Given the description of an element on the screen output the (x, y) to click on. 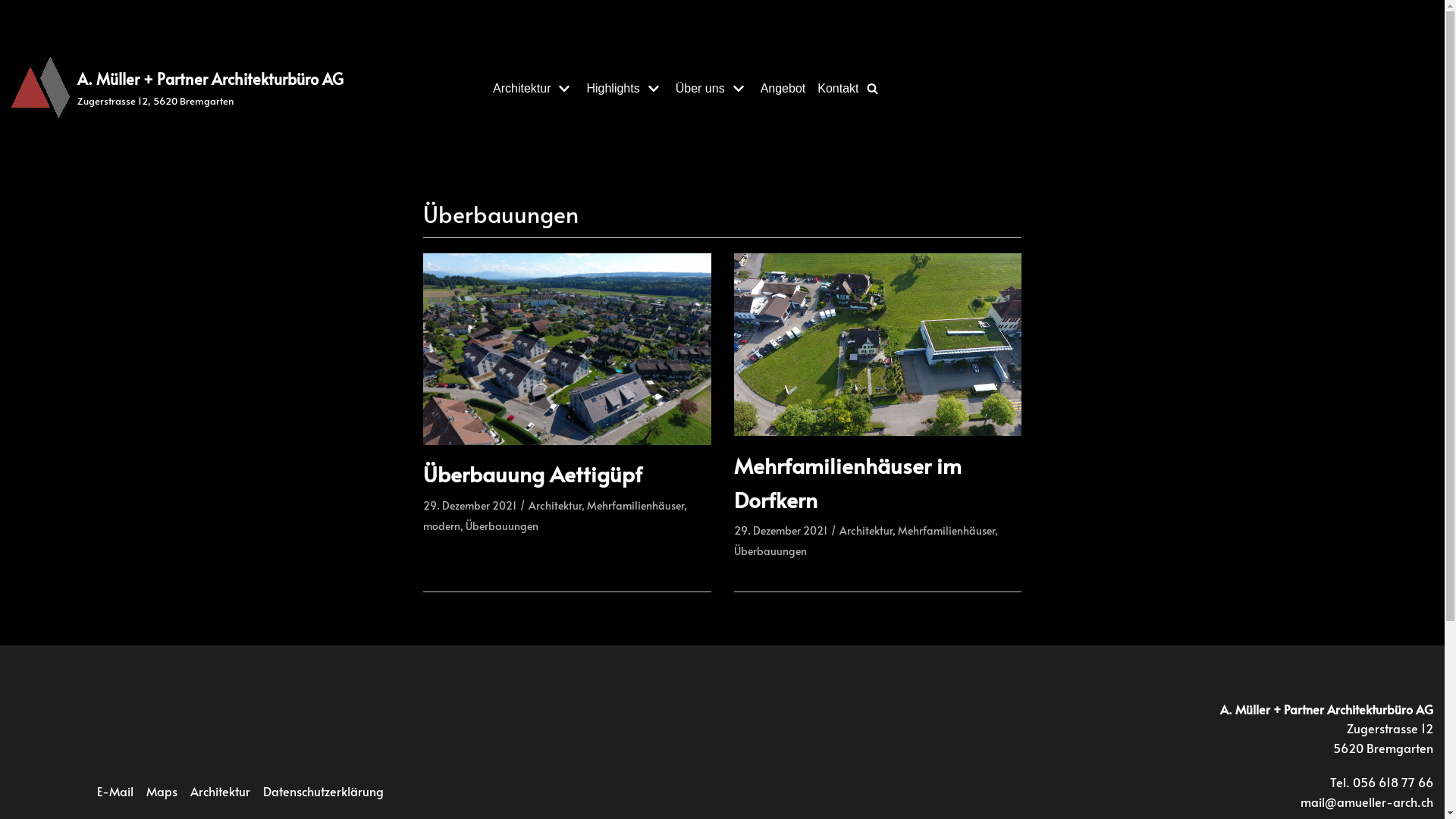
modern Element type: text (441, 525)
Highlights Element type: text (624, 88)
Architektur Element type: text (864, 530)
Angebot Element type: text (783, 88)
Kontakt Element type: text (837, 88)
Architektur Element type: text (533, 88)
Zum Inhalt Element type: text (15, 7)
Maps Element type: text (161, 791)
E-Mail Element type: text (115, 791)
Architektur Element type: text (554, 505)
Architektur Element type: text (220, 791)
